Given the description of an element on the screen output the (x, y) to click on. 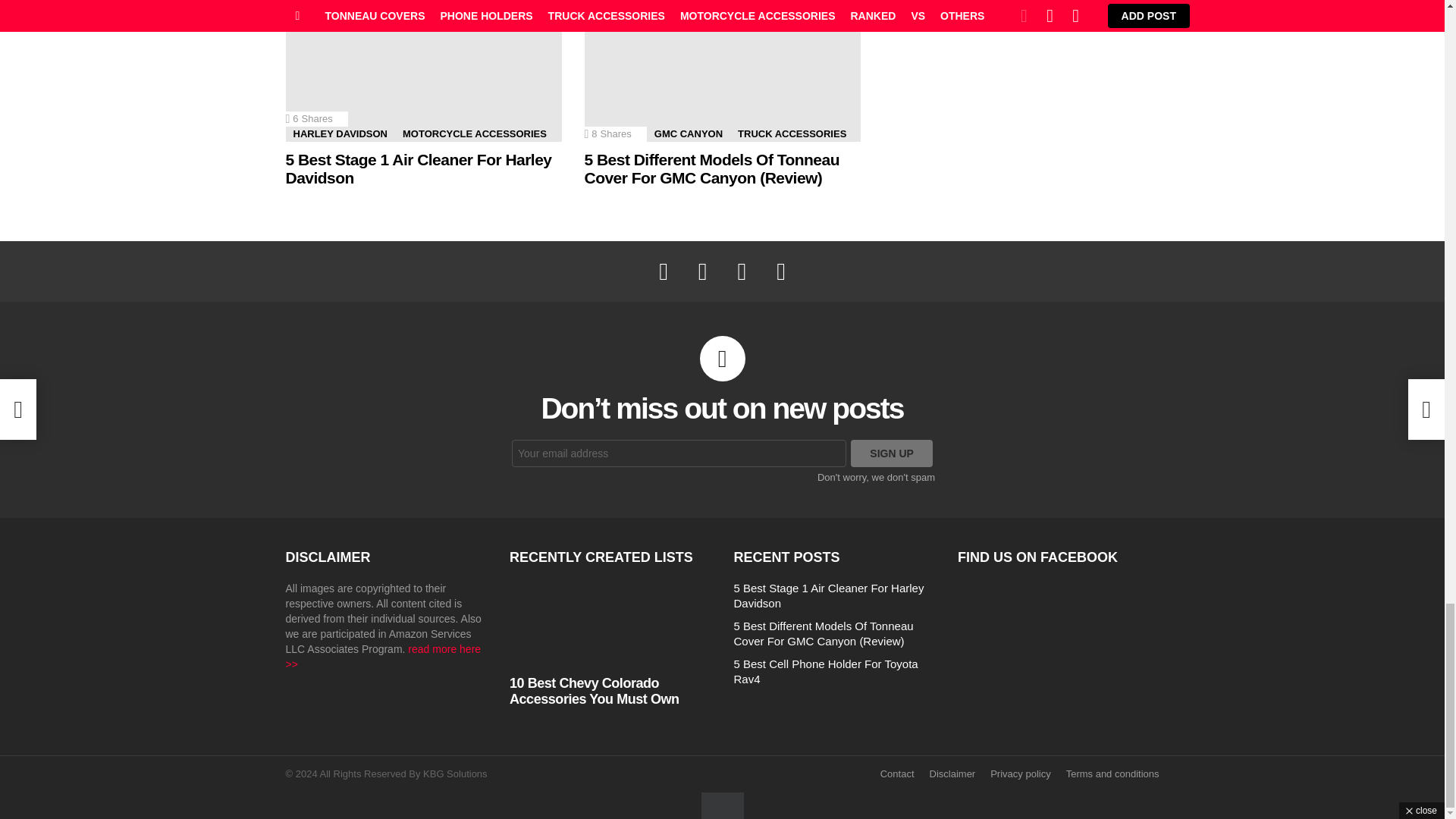
Hot (307, 4)
Popular (606, 4)
Sign up (891, 452)
5 Best Stage 1 Air Cleaner For Harley Davidson (422, 70)
